Given the description of an element on the screen output the (x, y) to click on. 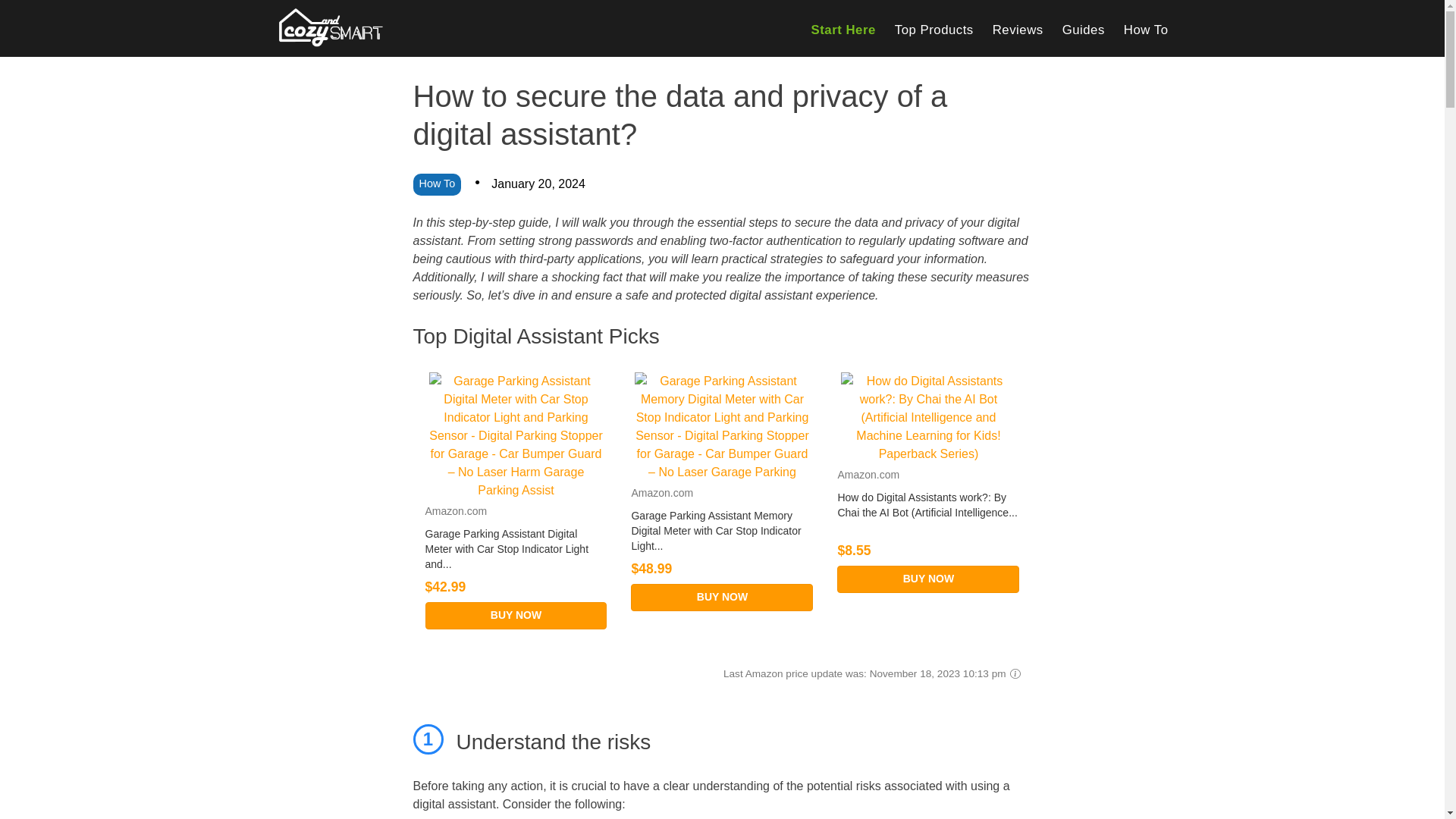
Top Products (934, 29)
How To (1146, 29)
BUY NOW (928, 578)
Guides (1083, 29)
Start Here (843, 29)
Reviews (1017, 29)
BUY NOW (516, 615)
January 20, 2024 (538, 183)
BUY NOW (721, 596)
